Given the description of an element on the screen output the (x, y) to click on. 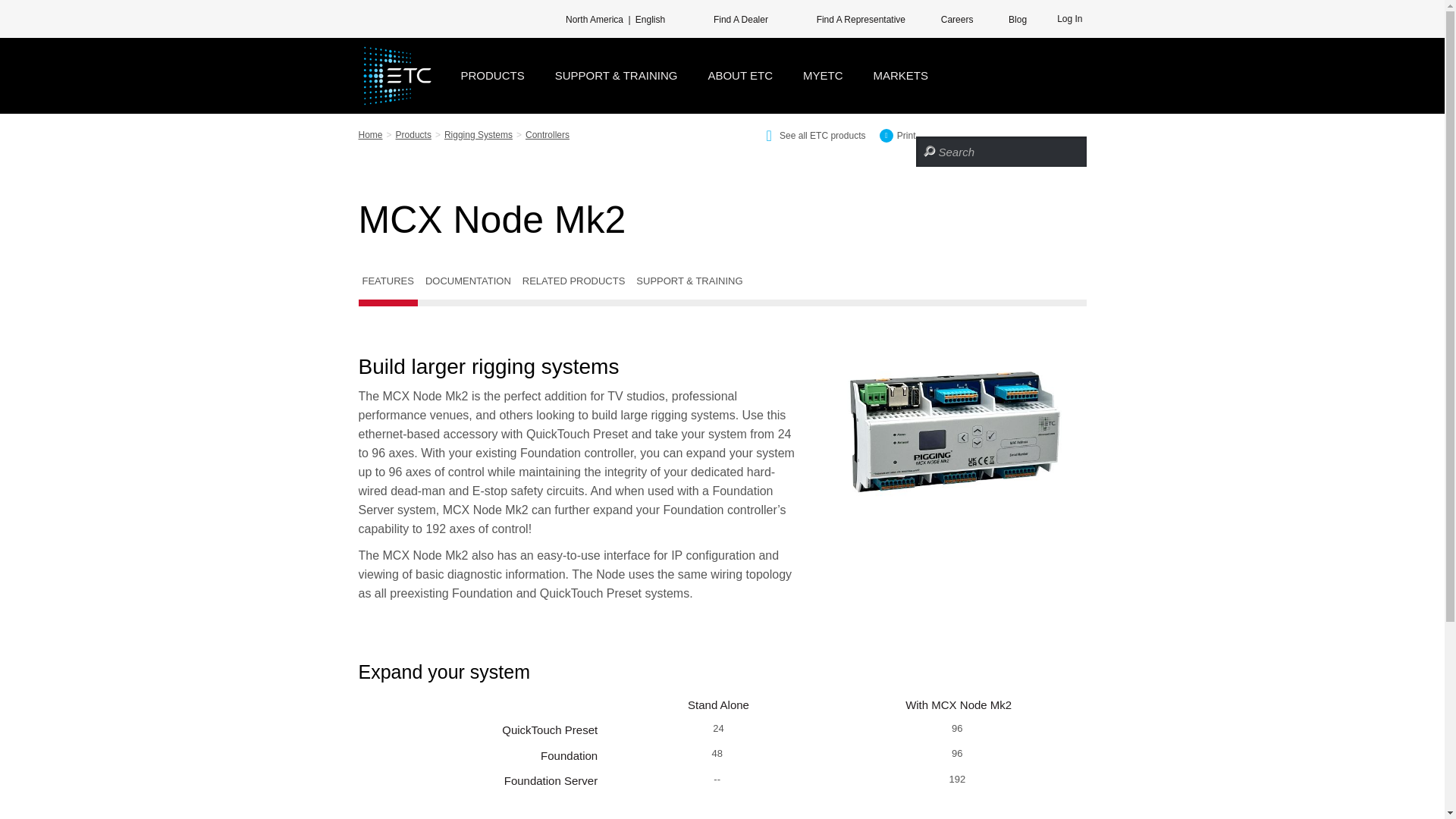
MCX Node Mk2 (953, 431)
Select your region and Language (605, 18)
ABOUT ETC (740, 75)
See all ETC products (809, 134)
ETC Home (395, 75)
PRODUCTS (492, 75)
Print this page (891, 134)
